Given the description of an element on the screen output the (x, y) to click on. 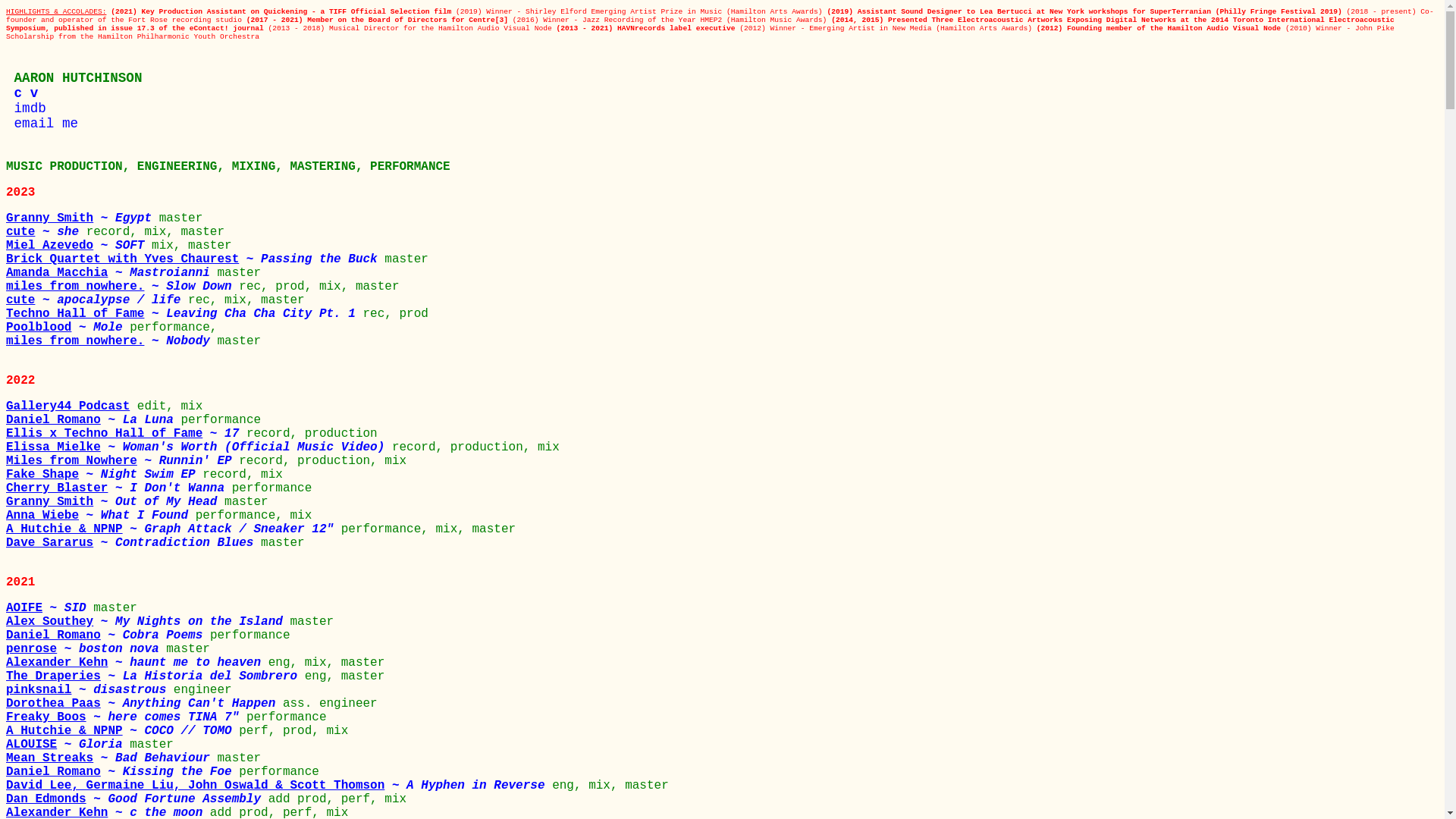
Daniel Romano ~ Cobra Poems Element type: text (108, 635)
 imdb Element type: text (26, 108)
The Draperies ~ La Historia del Sombrero Element type: text (155, 676)
Alexander Kehn ~ haunt me to heaven Element type: text (137, 662)
Poolblood ~ Mole Element type: text (67, 327)
cute ~ apocalypse / life Element type: text (97, 300)
Granny Smith ~ Egypt Element type: text (82, 218)
A Hutchie & NPNP ~ COCO // TOMO Element type: text (122, 730)
Dorothea Paas ~ Anything Can't Happen Element type: text (144, 703)
Dan Edmonds ~ Good Fortune Assembly Element type: text (137, 799)
cute ~ she Element type: text (46, 231)
Freaky Boos ~ here comes TINA 7" Element type: text (126, 717)
Cherry Blaster ~ I Don't Wanna Element type: text (119, 488)
Fake Shape ~ Night Swim EP Element type: text (104, 474)
Brick Quartet with Yves Chaurest ~ Passing the Buck Element type: text (195, 259)
Mean Streaks ~ Bad Behaviour Element type: text (111, 758)
Dave Sararus ~ Contradiction Blues Element type: text (133, 542)
A Hutchie & NPNP ~ Graph Attack / Sneaker 12" Element type: text (173, 529)
Techno Hall of Fame ~ Leaving Cha Cha City Pt. 1 Element type: text (184, 313)
Elissa Mielke ~ Woman's Worth (Official Music Video) Element type: text (199, 447)
Gallery44 Podcast Element type: text (71, 406)
Amanda Macchia ~ Mastroianni Element type: text (111, 272)
Ellis x Techno Hall of Fame ~ 17 Element type: text (126, 433)
pinksnail ~ disastrous Element type: text (89, 689)
AOIFE ~ SID Element type: text (49, 608)
miles from nowhere. ~ Slow Down Element type: text (122, 286)
Anna Wiebe ~ What I Found Element type: text (100, 515)
Daniel Romano ~ La Luna Element type: text (93, 419)
Granny Smith ~ Out of My Head Element type: text (115, 501)
Miles from Nowhere ~ Runnin' EP Element type: text (122, 460)
Alex Southey ~ My Nights on the Island Element type: text (147, 621)
Daniel Romano ~ Kissing the Foe Element type: text (122, 771)
 email me Element type: text (42, 123)
 c v Element type: text (21, 92)
miles from nowhere. ~ Nobody Element type: text (111, 341)
Miel Azevedo ~ SOFT Element type: text (78, 245)
ALOUISE ~ Gloria Element type: text (67, 744)
penrose ~ boston nova Element type: text (86, 648)
